Given the description of an element on the screen output the (x, y) to click on. 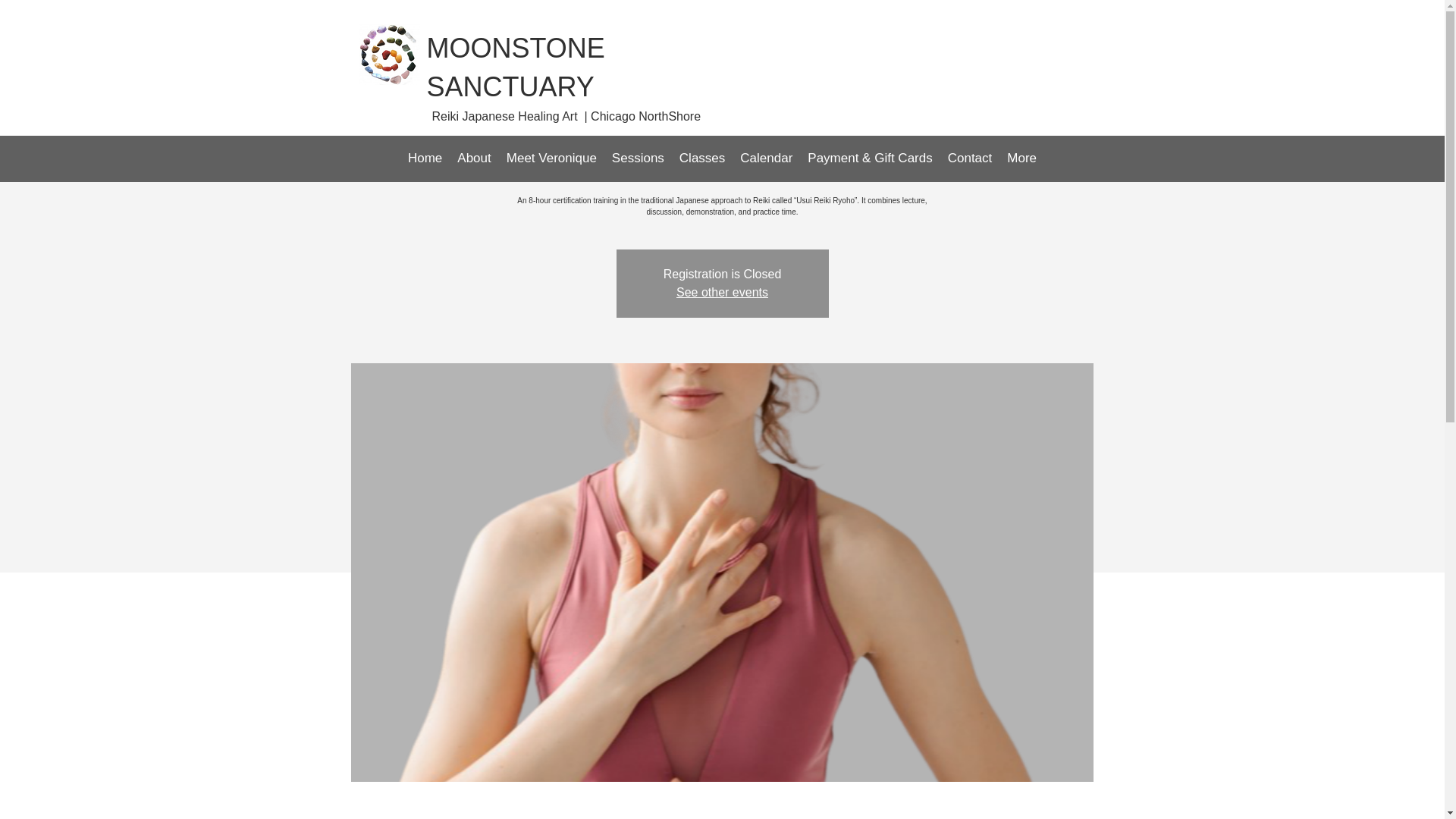
Classes (701, 160)
Meet Veronique (551, 160)
Sessions (637, 160)
About (473, 160)
Home (424, 160)
See other events (722, 291)
Contact (970, 160)
Log In (1008, 64)
Calendar (765, 160)
